Given the description of an element on the screen output the (x, y) to click on. 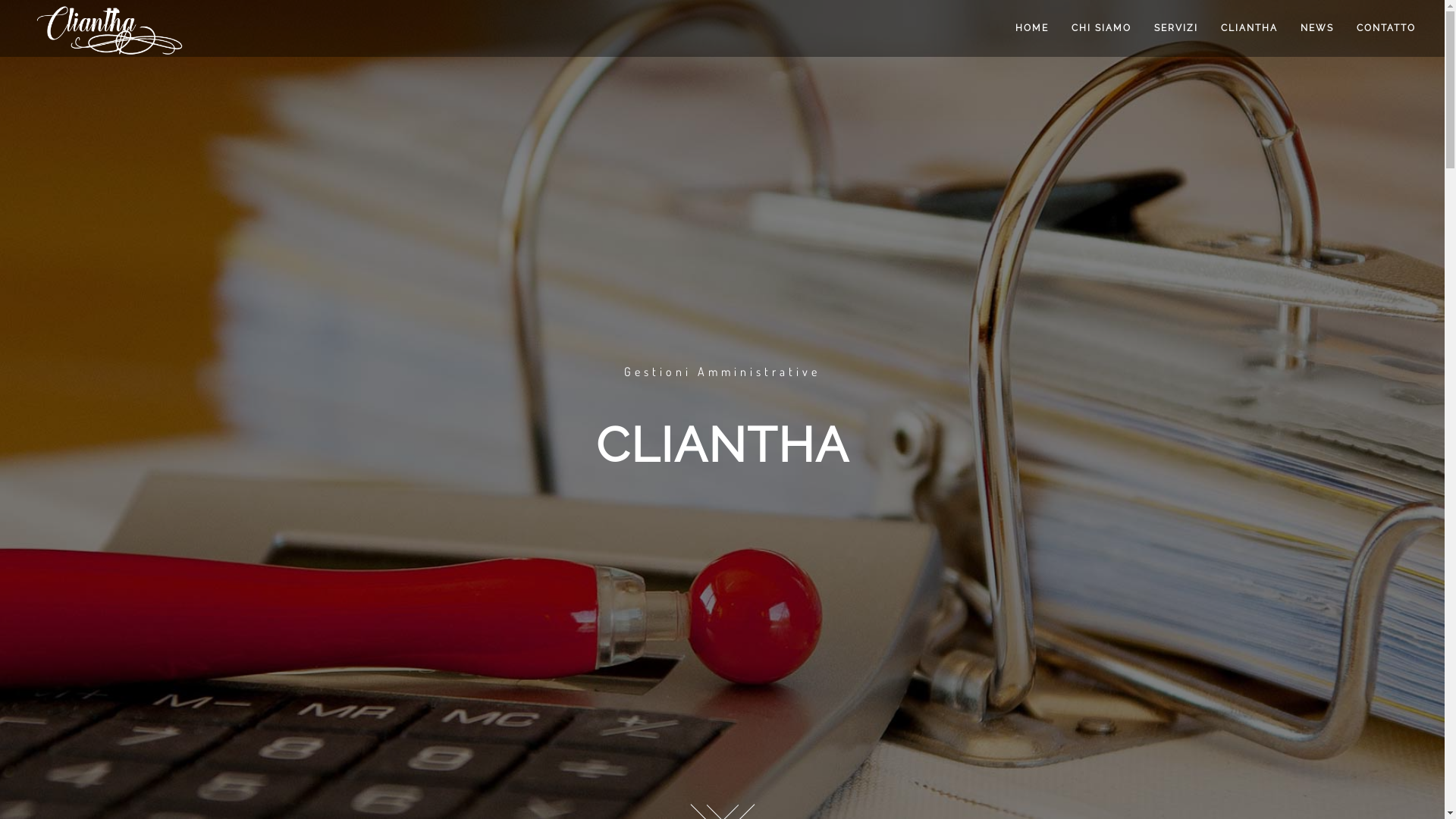
CHI SIAMO Element type: text (1101, 28)
CONTATTO Element type: text (1385, 28)
HOME Element type: text (1031, 28)
SERVIZI Element type: text (1176, 28)
NEWS Element type: text (1316, 28)
CLIANTHA Element type: text (1248, 28)
